Given the description of an element on the screen output the (x, y) to click on. 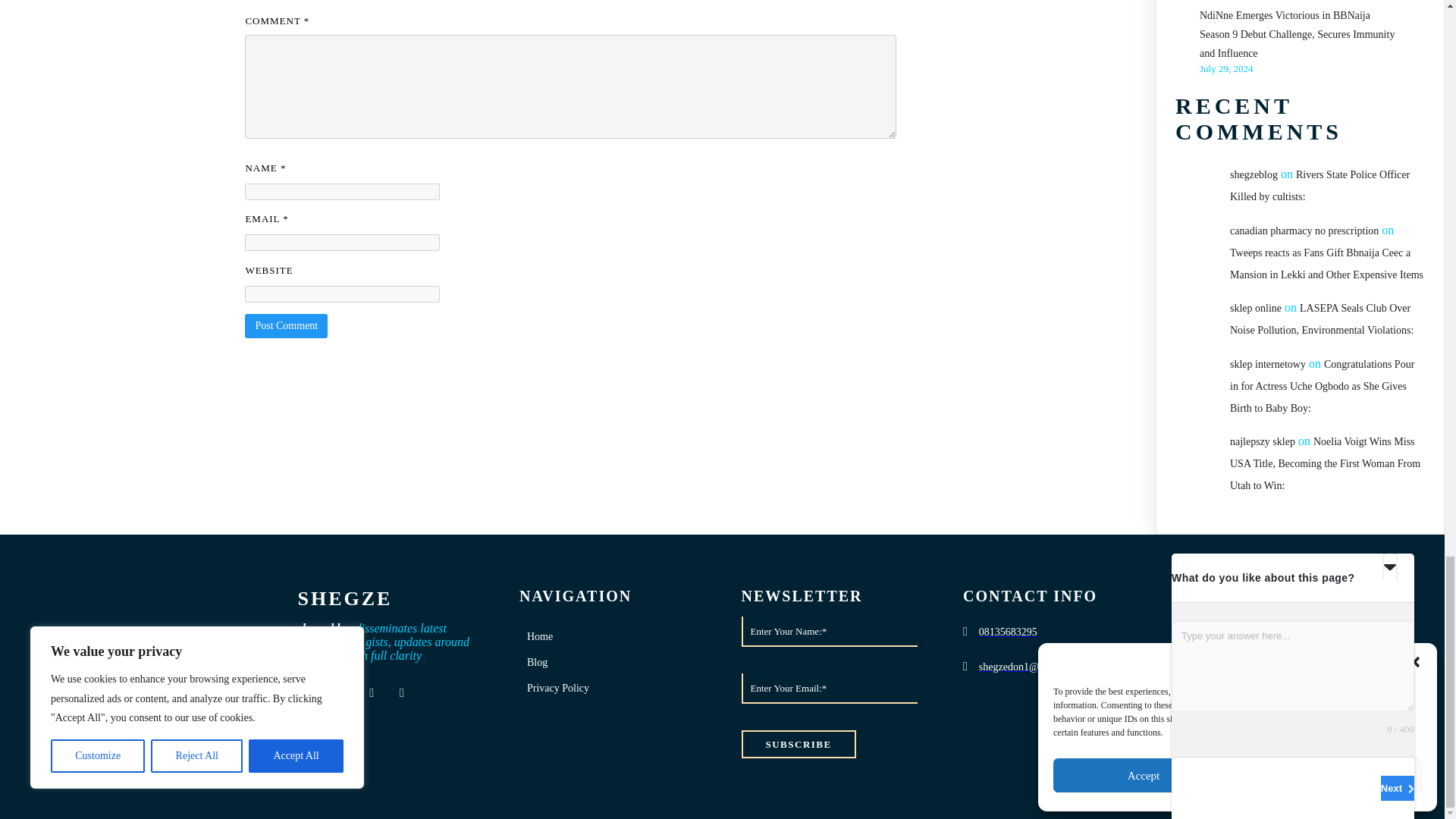
Post Comment (285, 325)
